Given the description of an element on the screen output the (x, y) to click on. 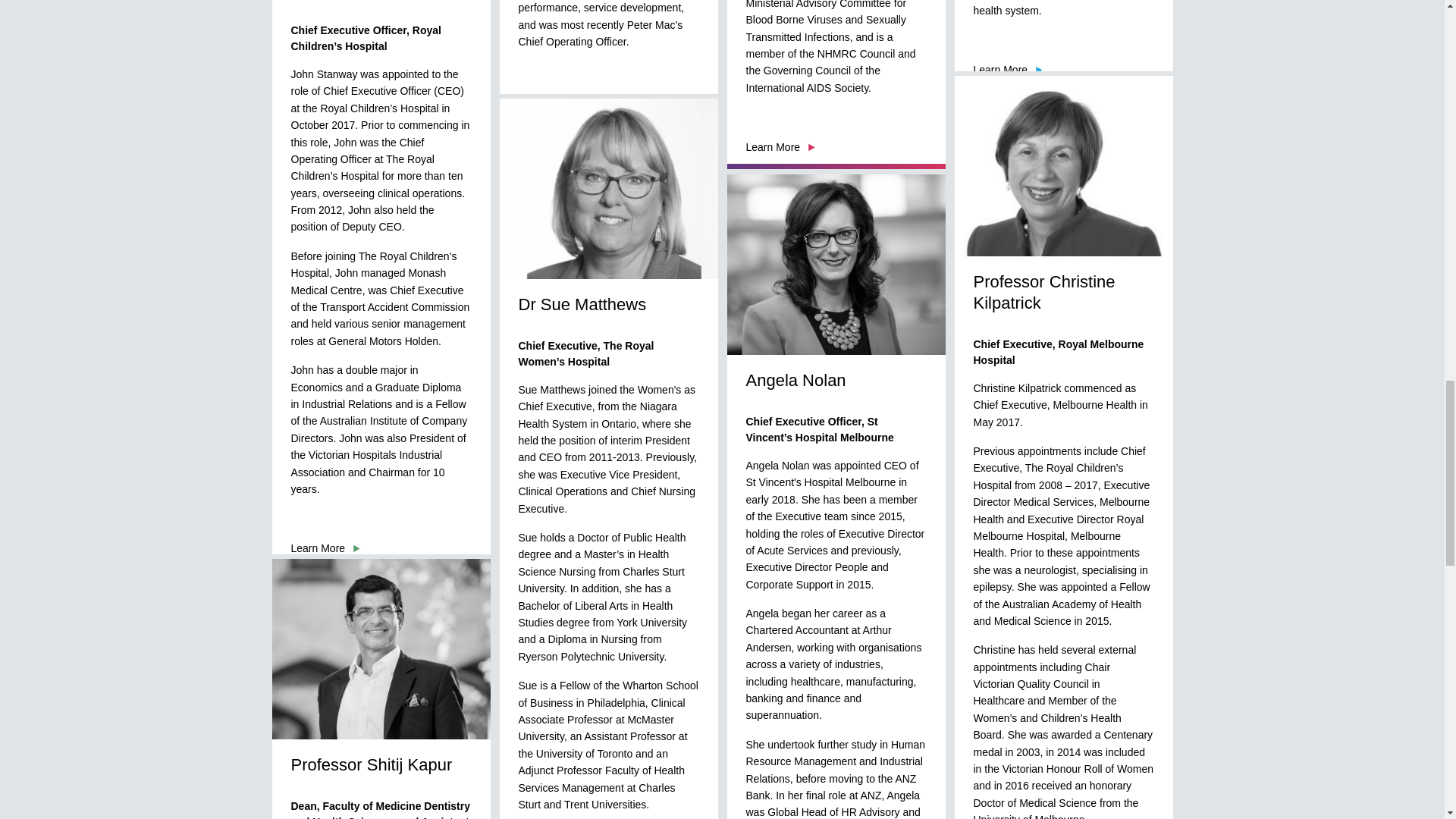
Learn More (326, 548)
Learn More (1008, 69)
Learn More (780, 146)
Learn More (553, 101)
